Given the description of an element on the screen output the (x, y) to click on. 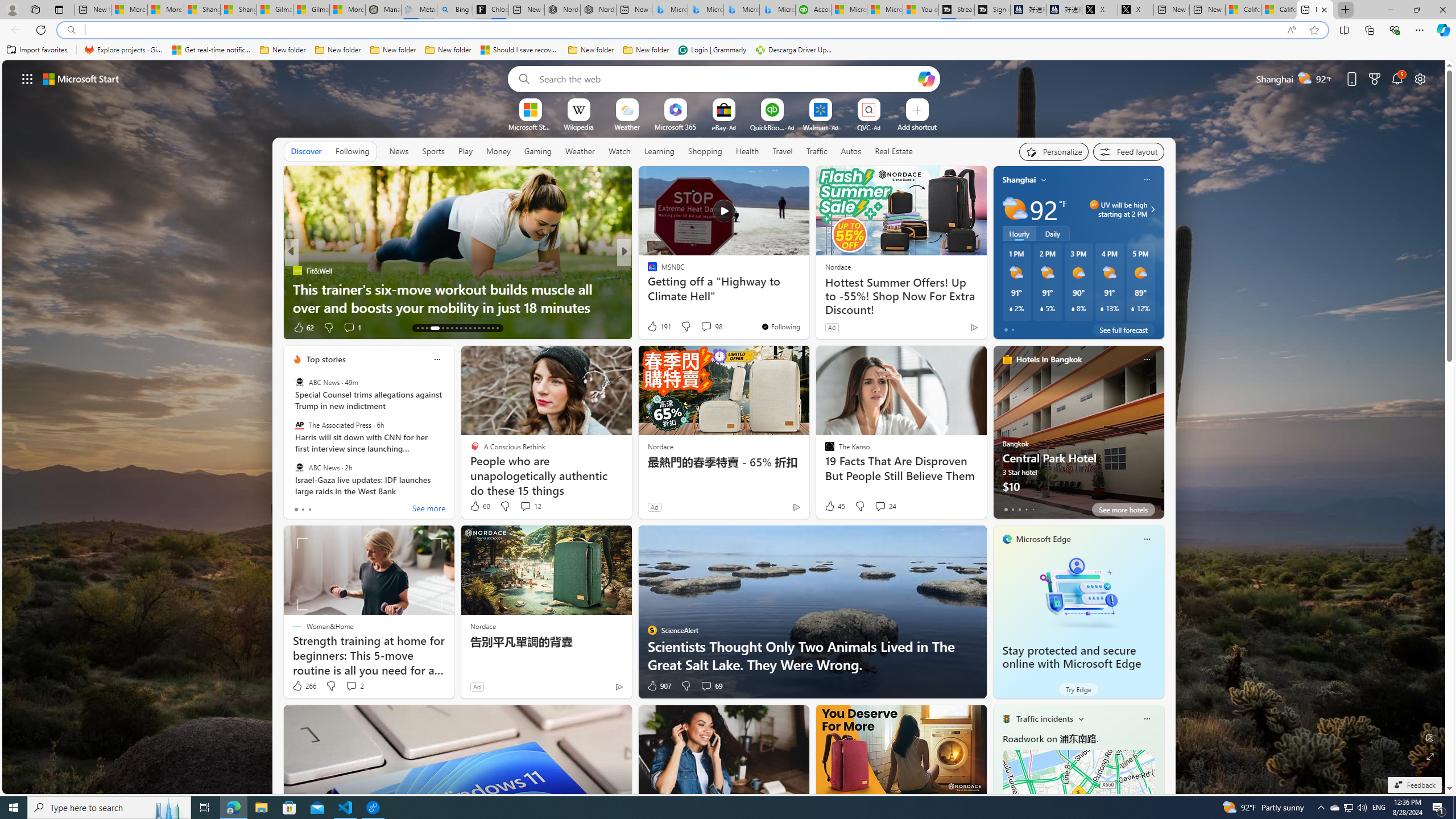
Page settings (1420, 78)
PsychLove (647, 270)
View comments 1k Comment (6, 327)
AutomationID: tab-14 (422, 328)
Microsoft Edge (1043, 538)
tab-4 (1032, 509)
Import favorites (36, 49)
View comments 4 Comment (698, 327)
Feed settings (1128, 151)
View comments 16 Comment (703, 327)
Hourly (1018, 233)
